Given the description of an element on the screen output the (x, y) to click on. 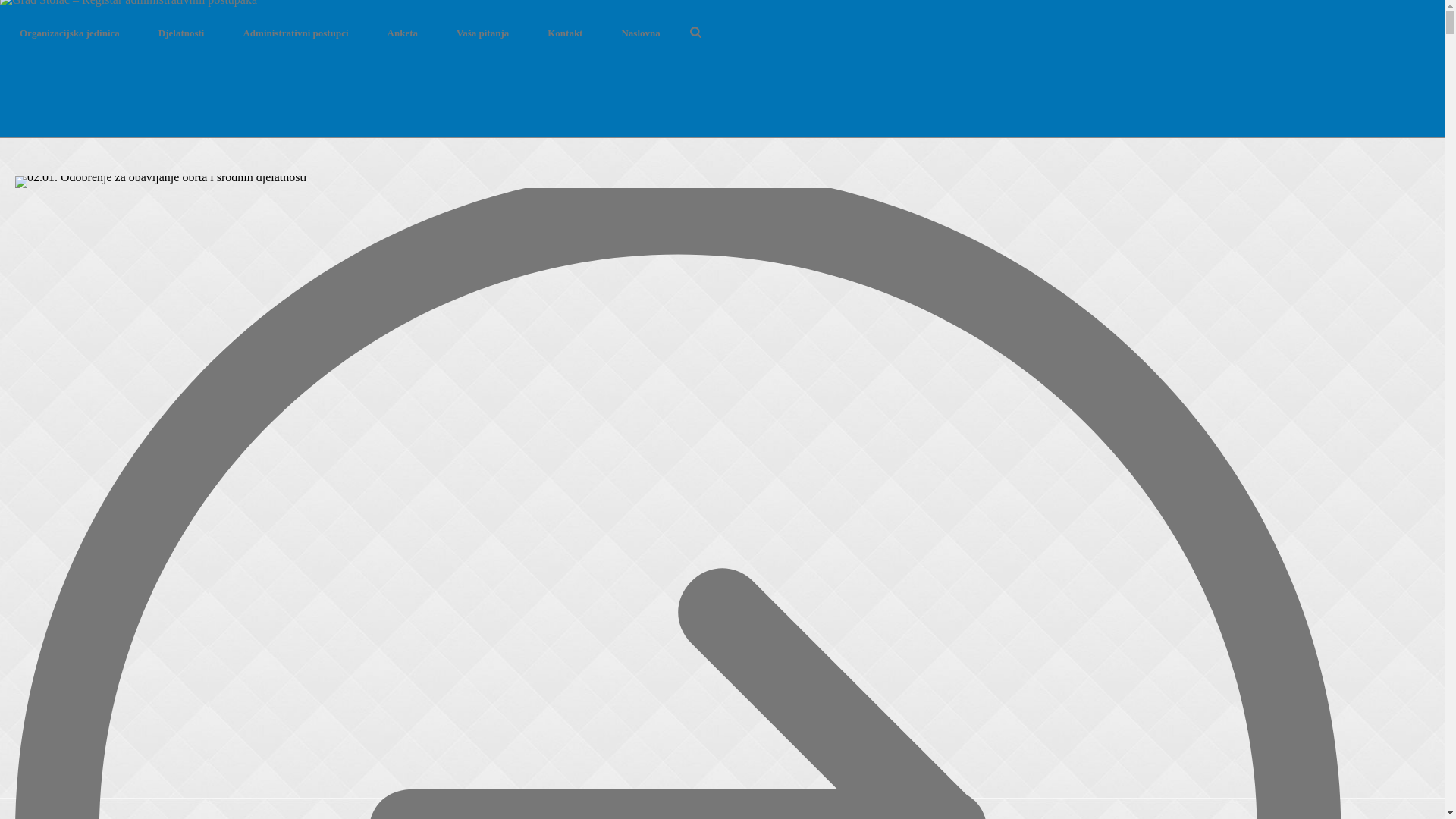
Administrativni postupci Element type: text (295, 32)
Anketa Element type: text (402, 32)
eRegistar Element type: hover (128, 6)
Organizacijska jedinica Element type: text (69, 32)
02.01.   Odobrenje za obavljanje obrta i srodnih djelatnosti Element type: hover (160, 181)
Naslovna Element type: text (640, 32)
Kontakt Element type: text (564, 32)
Djelatnosti Element type: text (181, 32)
